Given the description of an element on the screen output the (x, y) to click on. 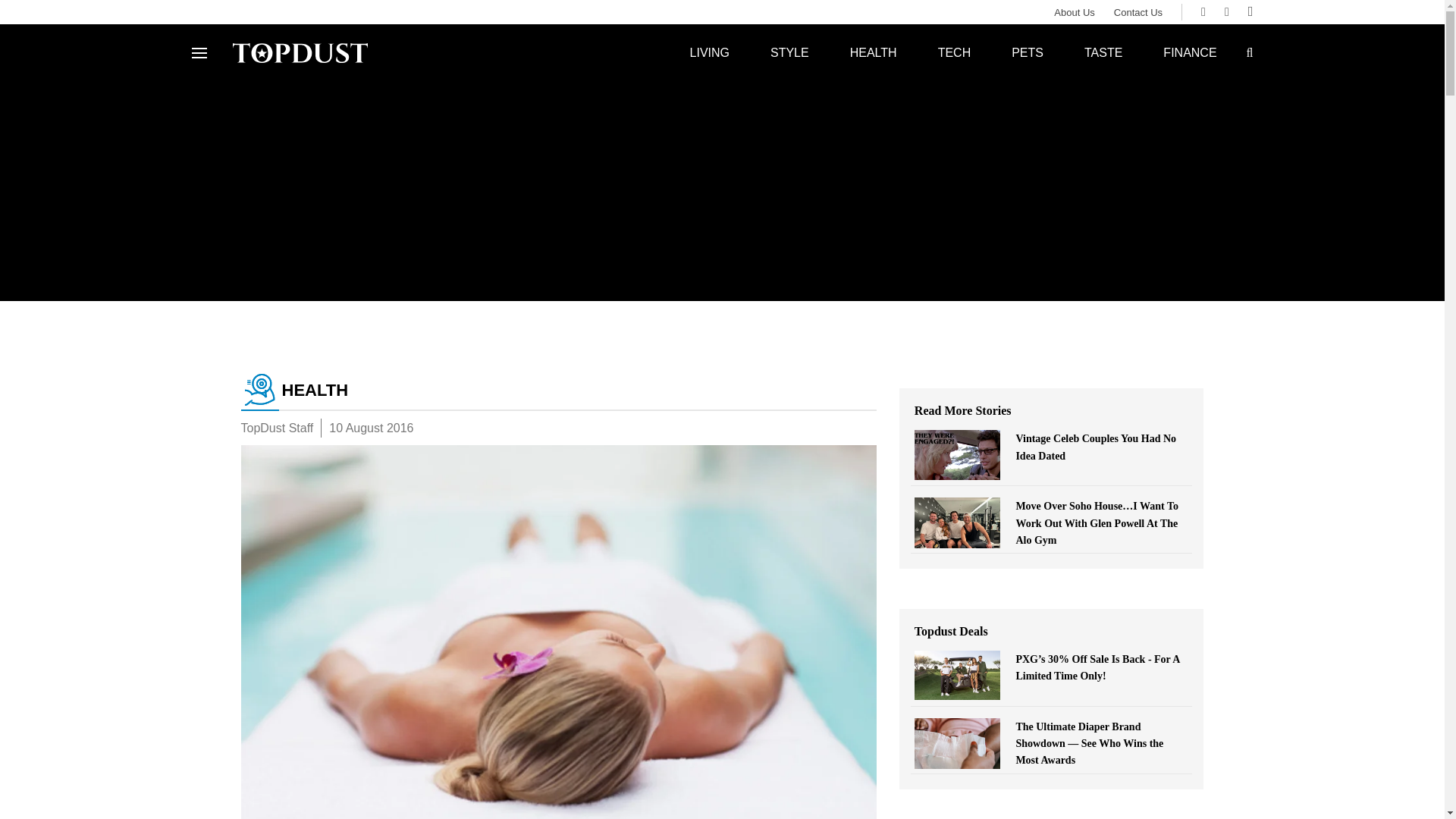
LIVING (709, 52)
TASTE (1103, 52)
Advertisement (1051, 815)
HEALTH (873, 52)
About Us (1064, 12)
Contact Us (1127, 12)
TECH (954, 52)
TopDust Staff (277, 427)
STYLE (789, 52)
HEALTH (558, 391)
PETS (1027, 52)
Logo (299, 51)
FINANCE (1189, 52)
